Given the description of an element on the screen output the (x, y) to click on. 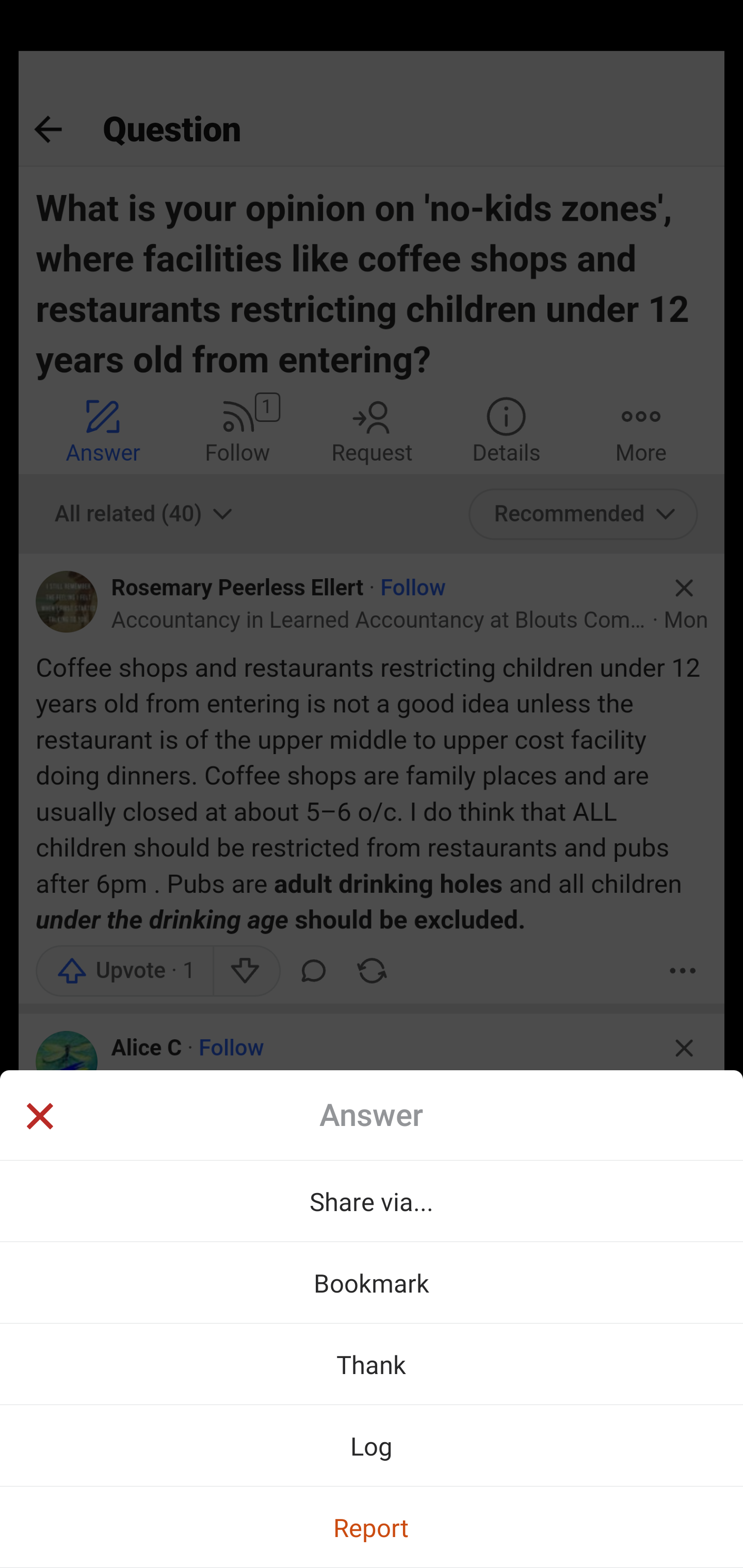
 (39, 1117)
Share via... (371, 1200)
Bookmark (371, 1282)
Thank (371, 1363)
Log (371, 1445)
Report (371, 1527)
